Given the description of an element on the screen output the (x, y) to click on. 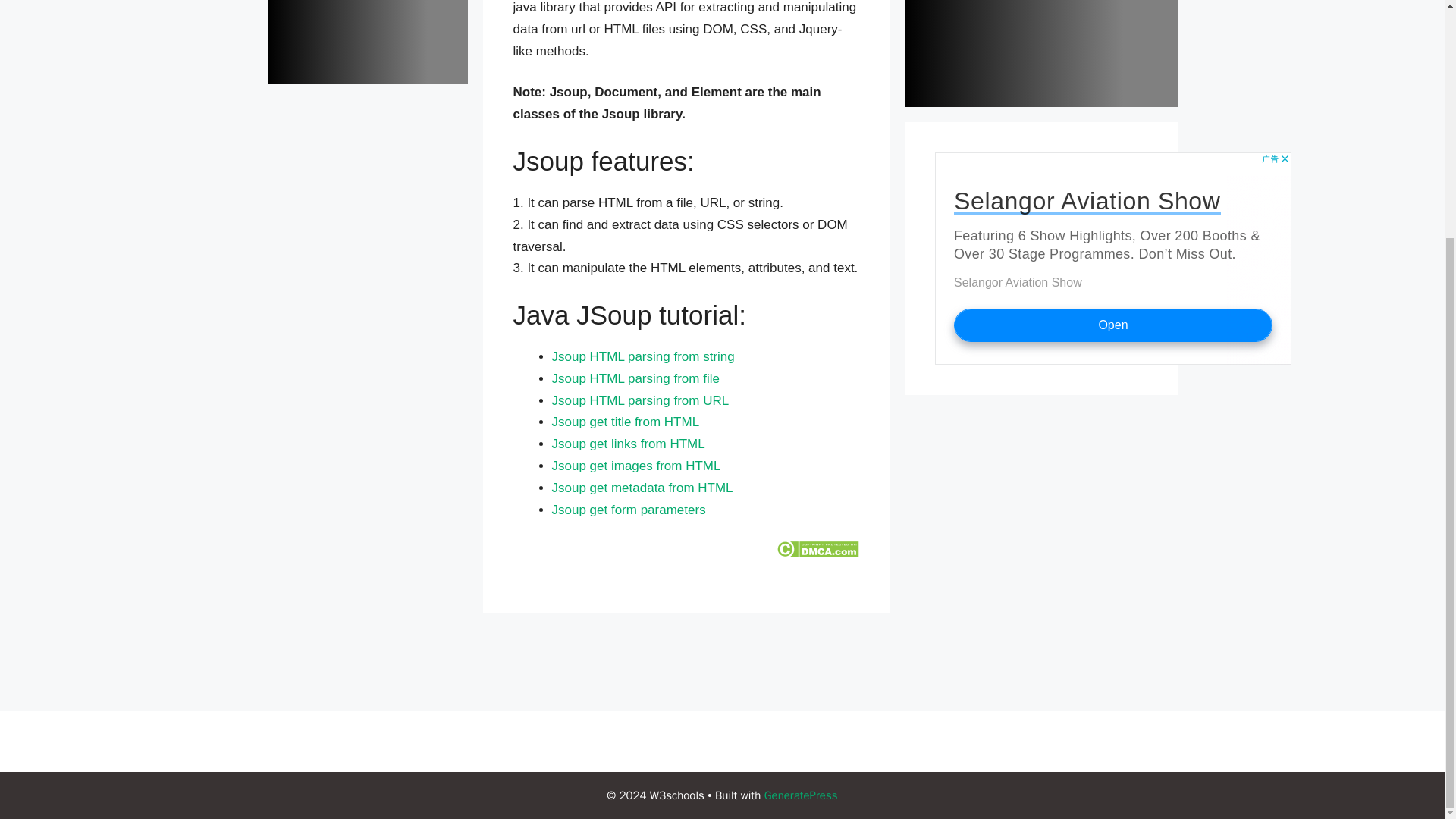
Content Protection by DMCA.com (817, 553)
Jsoup get form parameters (628, 509)
Jsoup get images from HTML (635, 465)
Jsoup HTML parsing from string (643, 356)
Jsoup HTML parsing from file (635, 378)
Jsoup get metadata from HTML (642, 487)
Advertisement (1112, 258)
Jsoup get links from HTML (627, 443)
Jsoup HTML parsing from URL (640, 400)
Jsoup get title from HTML (625, 421)
